Given the description of an element on the screen output the (x, y) to click on. 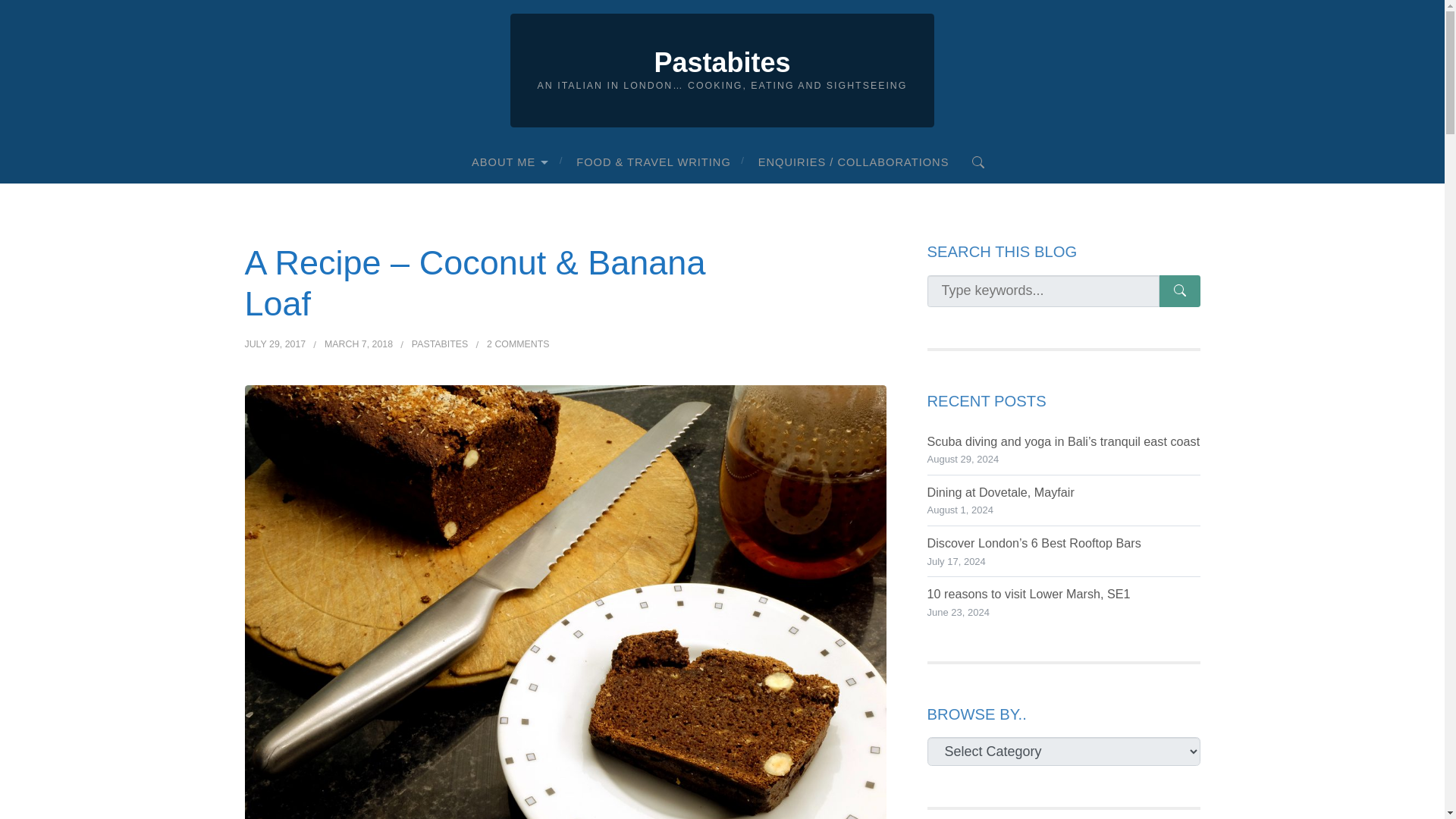
Search (978, 161)
Search for: (1042, 291)
Pastabites (721, 61)
ABOUT ME (510, 162)
